Given the description of an element on the screen output the (x, y) to click on. 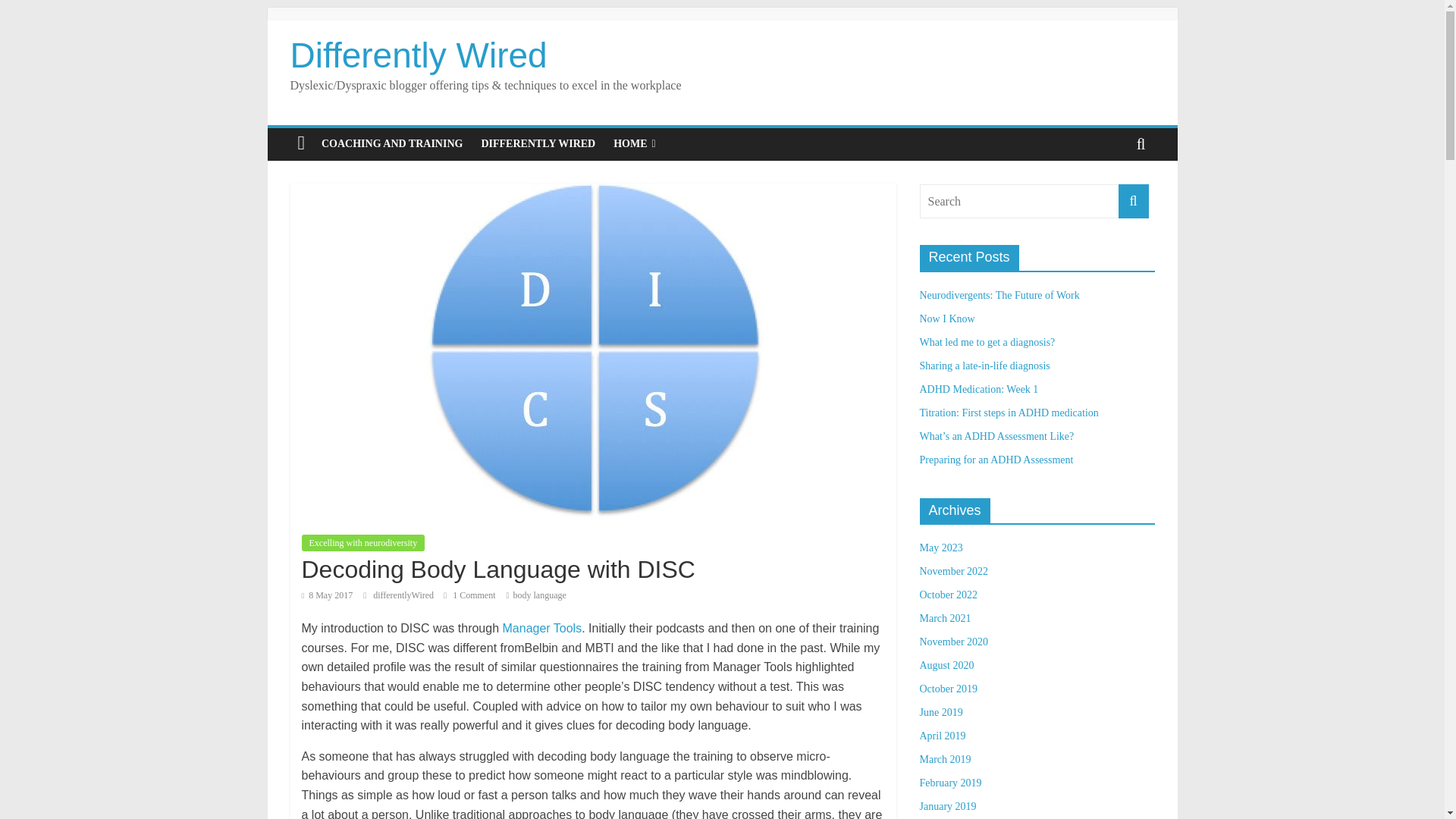
differentlyWired (403, 594)
August 2020 (946, 665)
Excelling with neurodiversity (363, 542)
November 2022 (953, 571)
Preparing for an ADHD Assessment (995, 460)
Sharing a late-in-life diagnosis (983, 365)
1 Comment (469, 594)
14:20 (327, 594)
ADHD Medication: Week 1 (978, 389)
8 May 2017 (327, 594)
October 2019 (947, 688)
differentlyWired (403, 594)
October 2022 (947, 594)
COACHING AND TRAINING (392, 143)
